Given the description of an element on the screen output the (x, y) to click on. 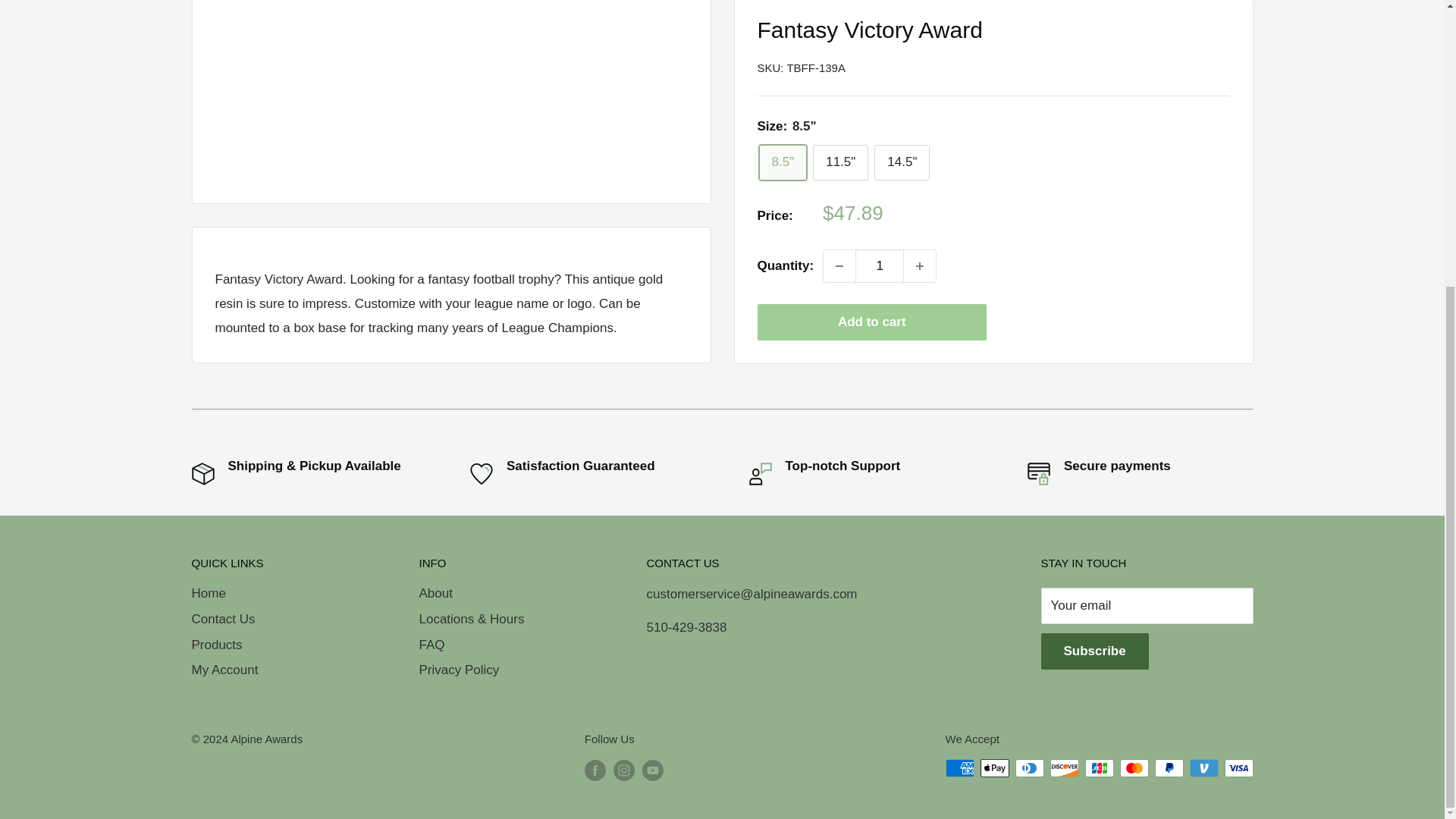
Increase quantity by 1 (920, 81)
Decrease quantity by 1 (840, 81)
1 (880, 81)
